Given the description of an element on the screen output the (x, y) to click on. 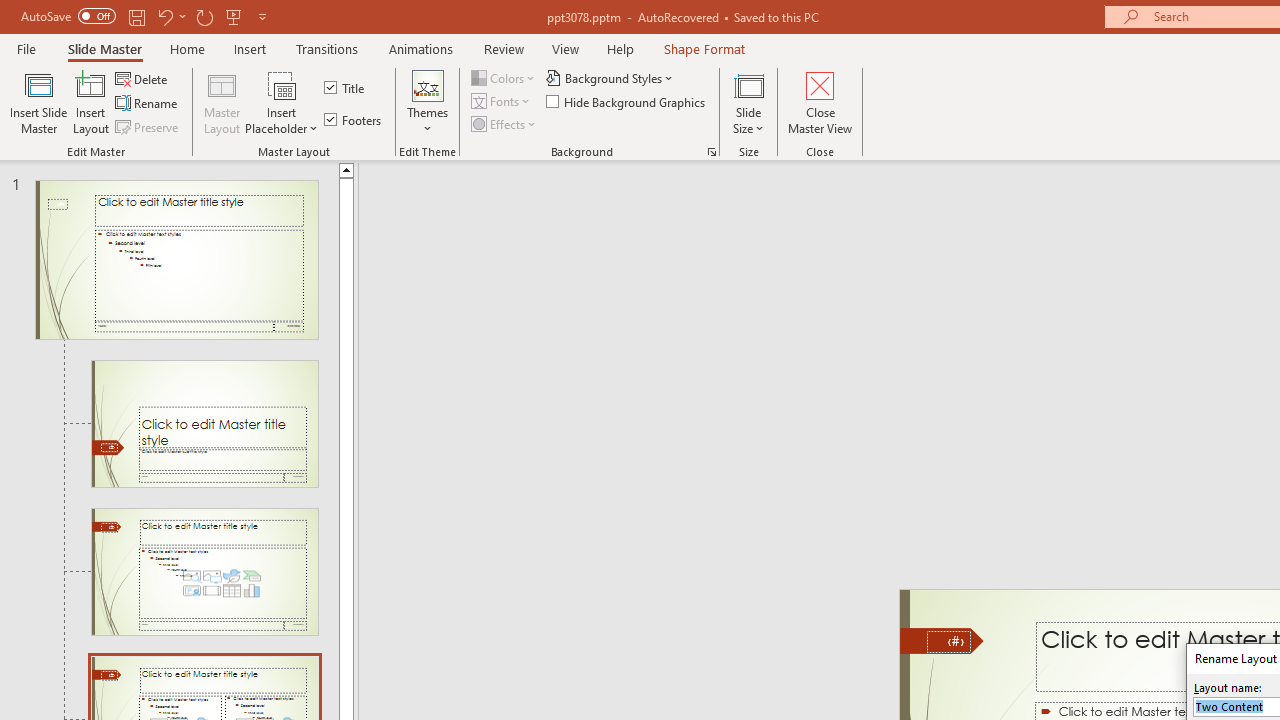
Insert Placeholder (282, 102)
Freeform 11 (941, 640)
Format Background... (711, 151)
Rename (148, 103)
Insert Layout (91, 102)
Preserve (148, 126)
Slide Title Slide Layout: used by slide(s) 1 (204, 423)
